Given the description of an element on the screen output the (x, y) to click on. 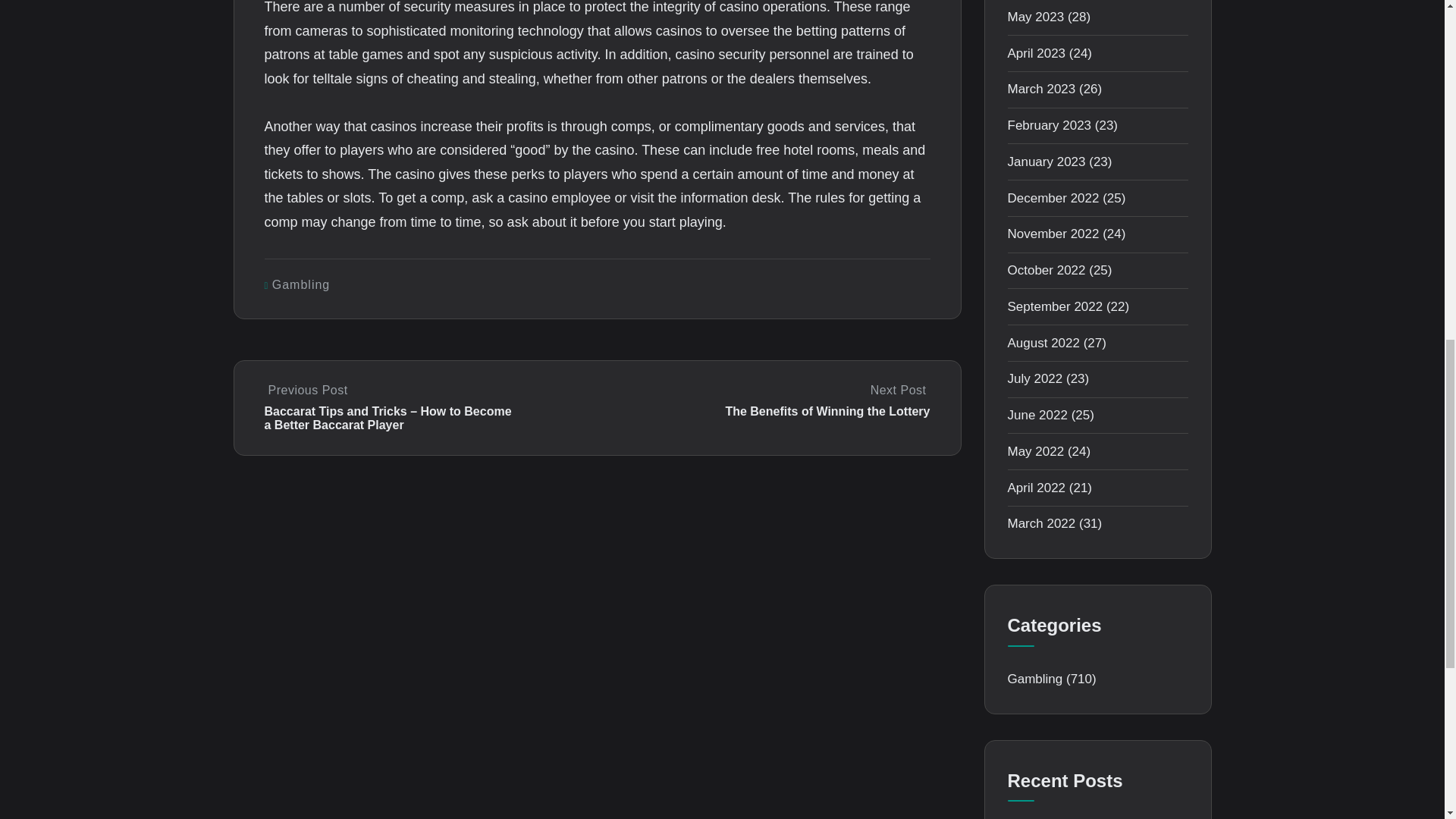
March 2023 (1041, 88)
Gambling (301, 284)
July 2022 (1034, 378)
August 2022 (1042, 342)
February 2023 (1048, 124)
September 2022 (1054, 306)
January 2023 (1045, 161)
December 2022 (1053, 197)
May 2023 (1035, 16)
October 2022 (1045, 269)
November 2022 (1053, 233)
April 2023 (1036, 52)
